Given the description of an element on the screen output the (x, y) to click on. 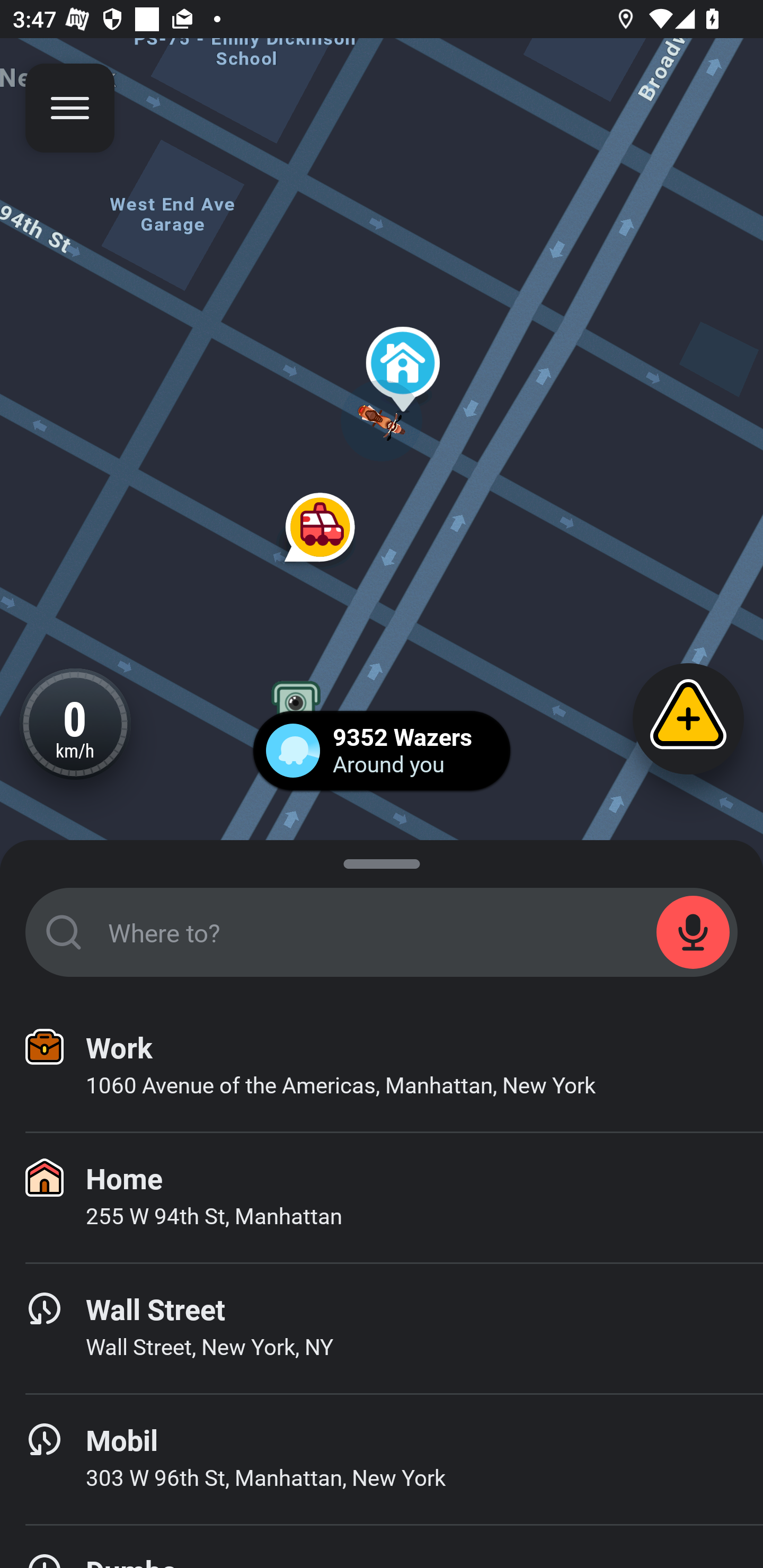
SUGGESTIONS_SHEET_DRAG_HANDLE (381, 860)
START_STATE_SEARCH_FIELD Where to? (381, 931)
Home 255 W 94th St, Manhattan (381, 1197)
Wall Street Wall Street, New York, NY (381, 1328)
Mobil 303 W 96th St, Manhattan, New York (381, 1459)
